Given the description of an element on the screen output the (x, y) to click on. 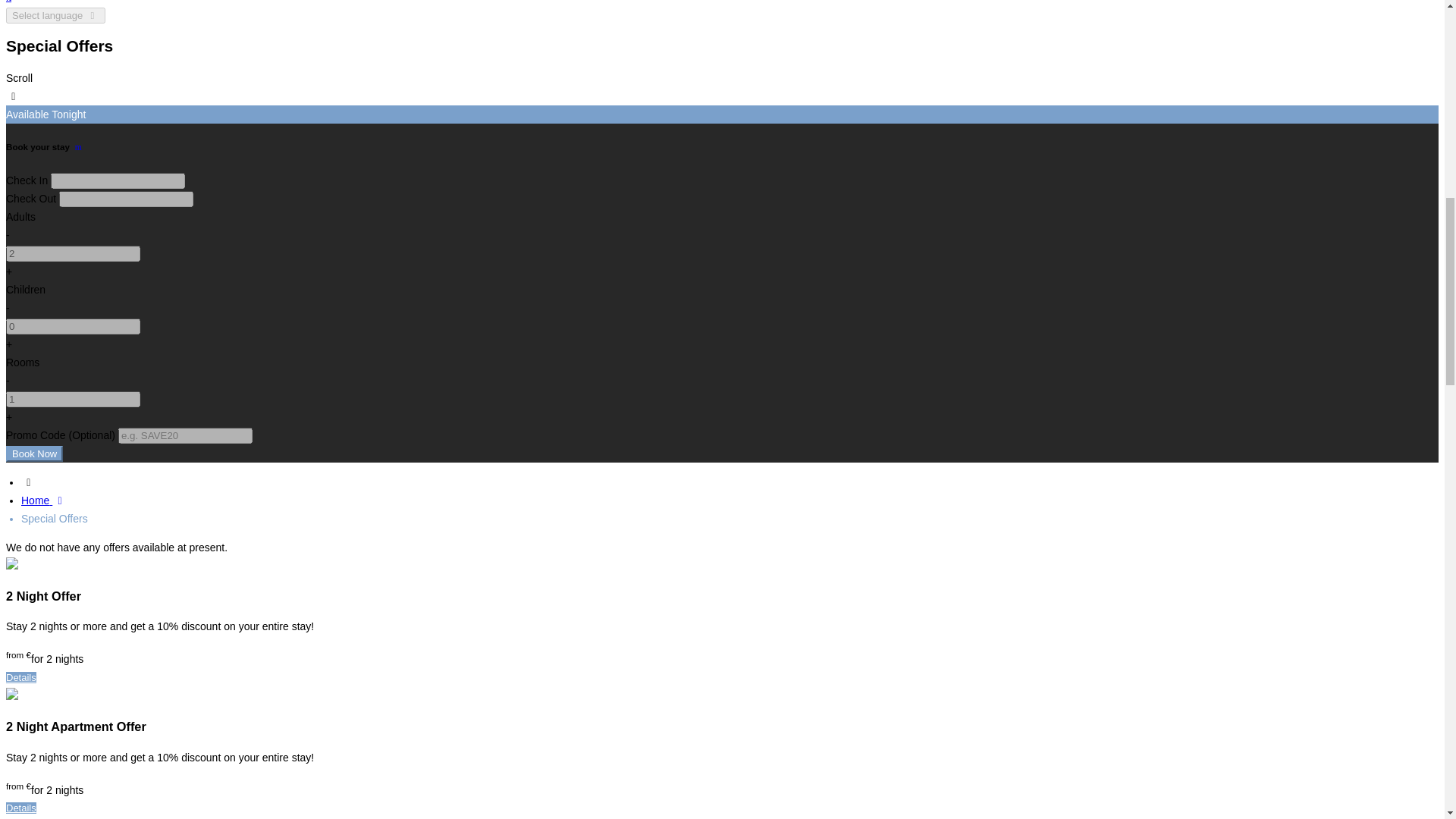
2 (72, 253)
Book Now (33, 453)
1 (72, 399)
0 (72, 326)
